Given the description of an element on the screen output the (x, y) to click on. 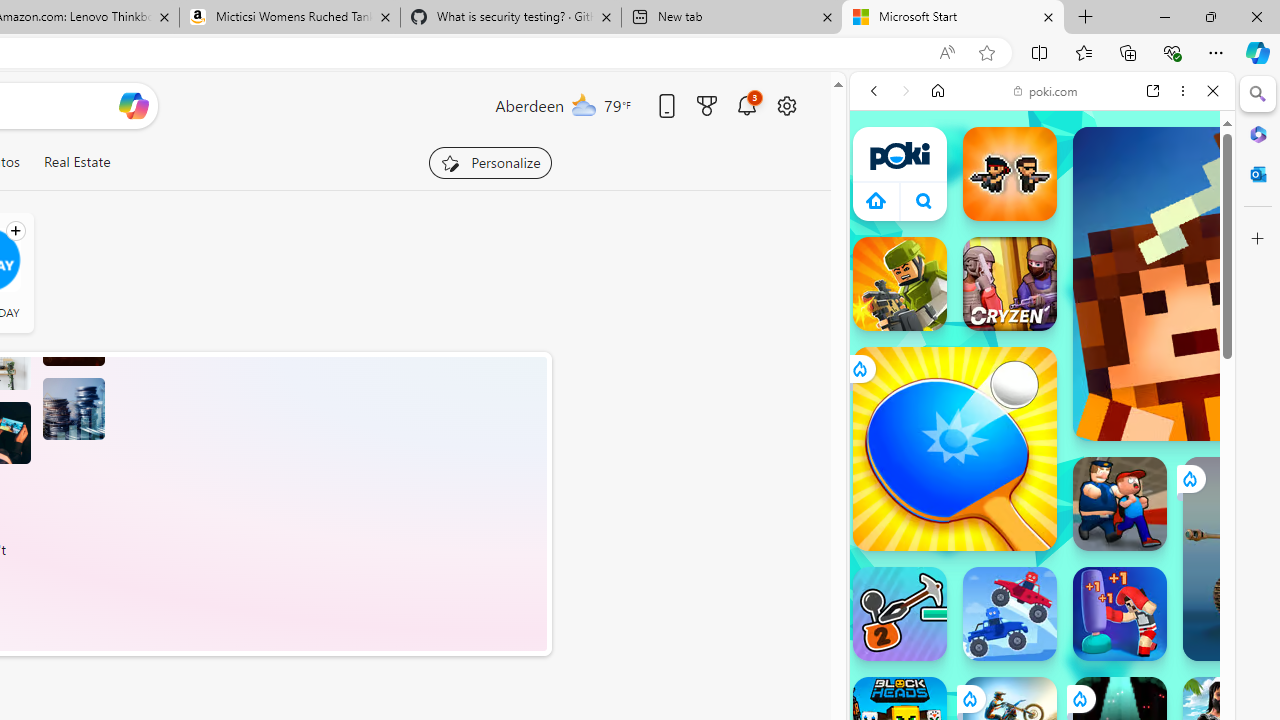
Io Games (1042, 616)
Battle Wheels (1009, 613)
Two Player Games (1042, 568)
Punch Legend Simulator Punch Legend Simulator (1119, 613)
Follow channel (15, 231)
Show More Io Games (1164, 619)
Real Estate (76, 161)
Escape From School Escape From School (1119, 503)
